Given the description of an element on the screen output the (x, y) to click on. 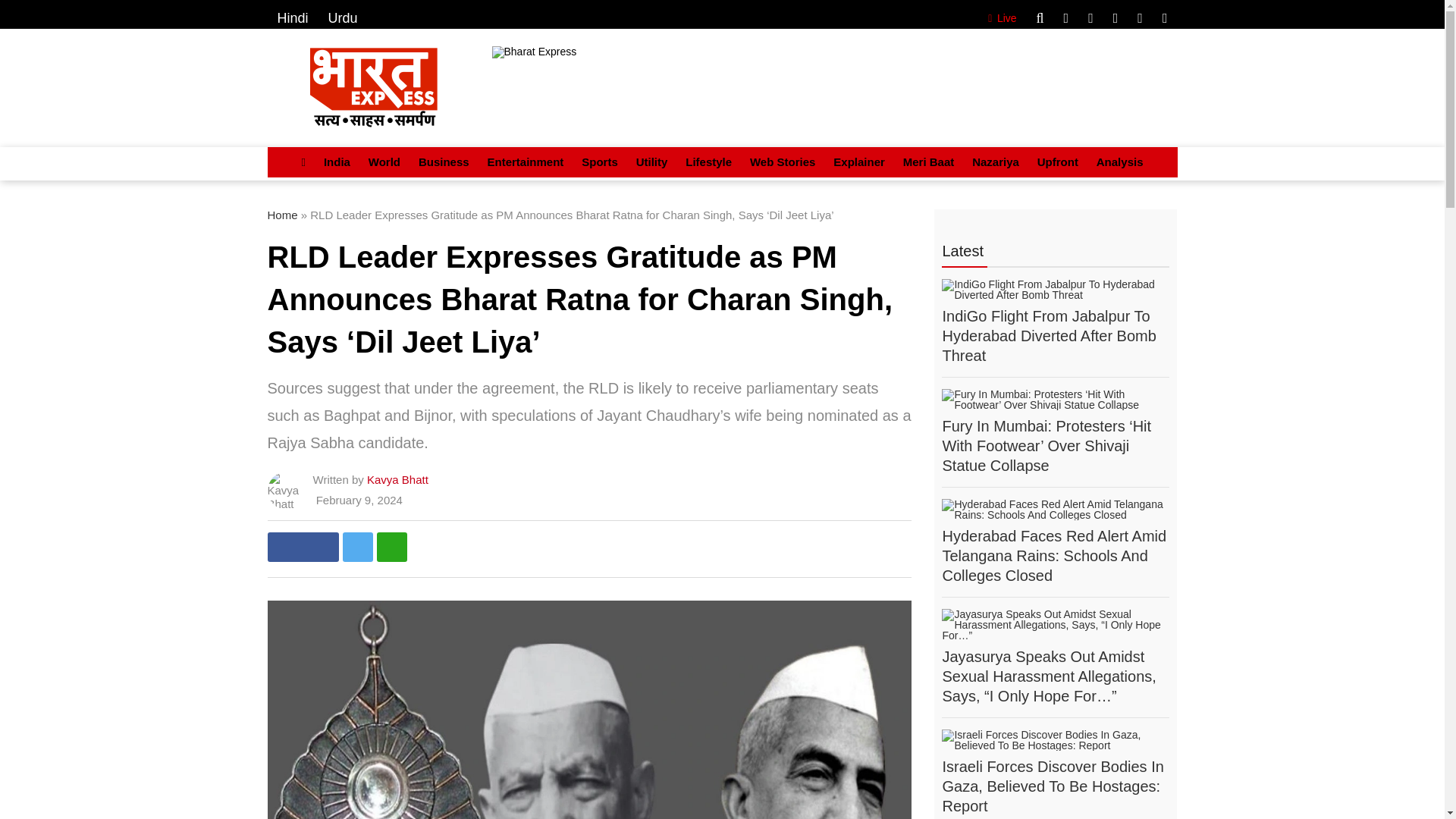
World (384, 162)
India (336, 162)
Entertainment (524, 162)
Nazariya (994, 162)
Urdu (342, 17)
Business (443, 162)
Utility (651, 162)
Live (999, 18)
Hindi (292, 17)
